Given the description of an element on the screen output the (x, y) to click on. 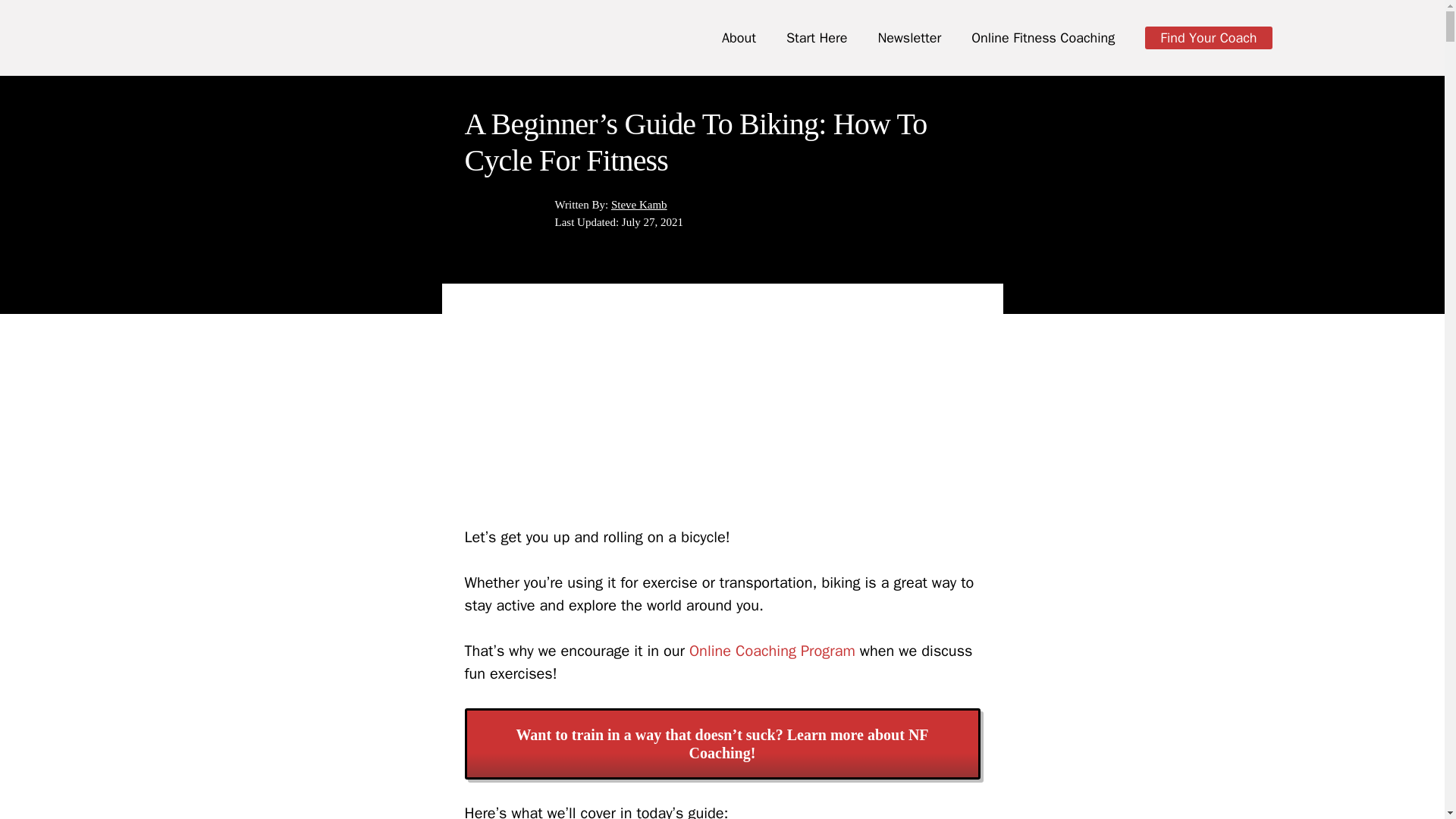
Steve Kamb (638, 203)
About (738, 37)
Online Coaching Program (772, 650)
Start Here (817, 37)
Find Your Coach (1207, 37)
Online Fitness Coaching (1042, 37)
Newsletter (908, 37)
